Given the description of an element on the screen output the (x, y) to click on. 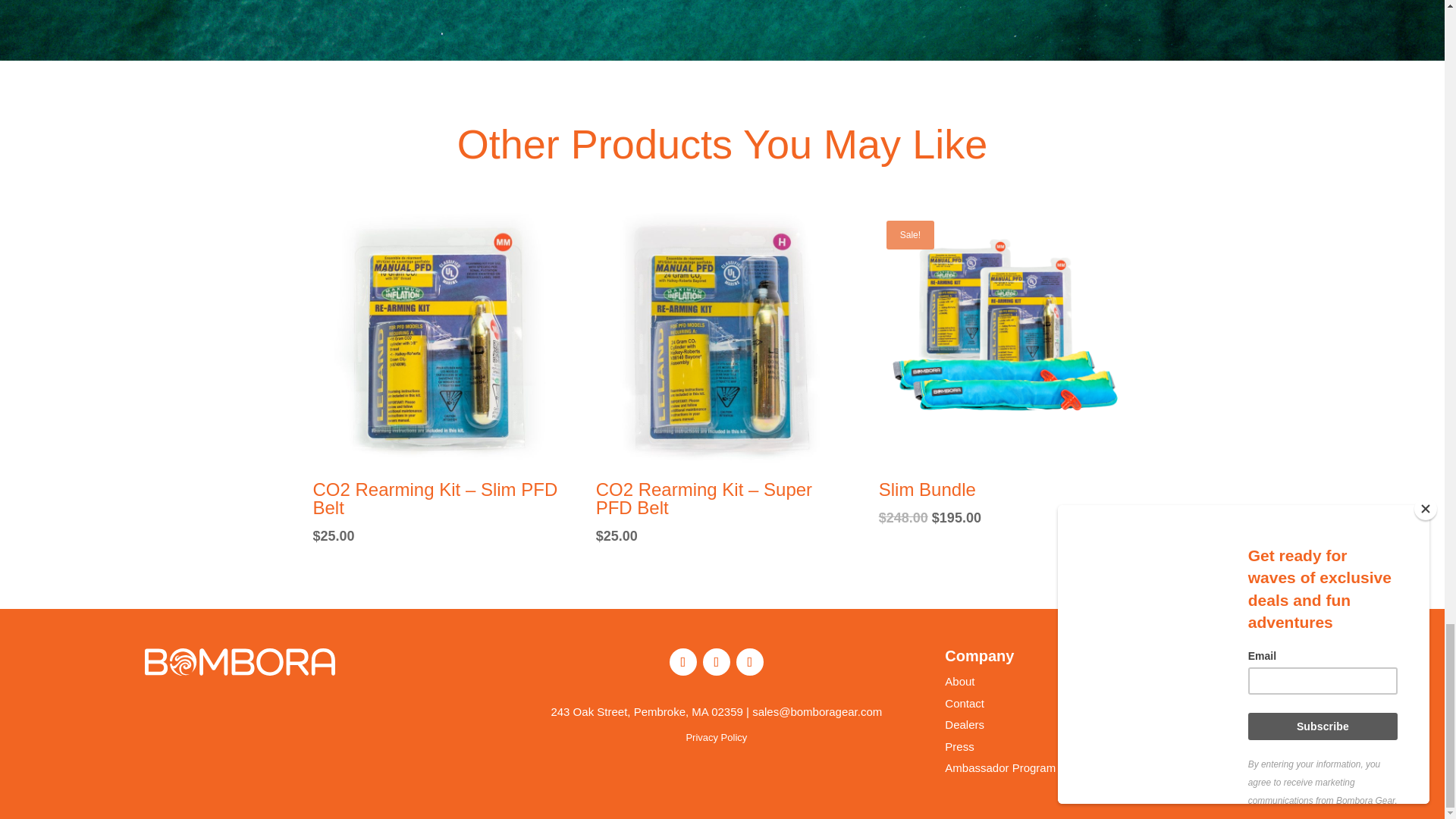
Privacy Policy (715, 737)
Contact (964, 703)
Dealers (964, 724)
About (959, 680)
Press (959, 746)
